Given the description of an element on the screen output the (x, y) to click on. 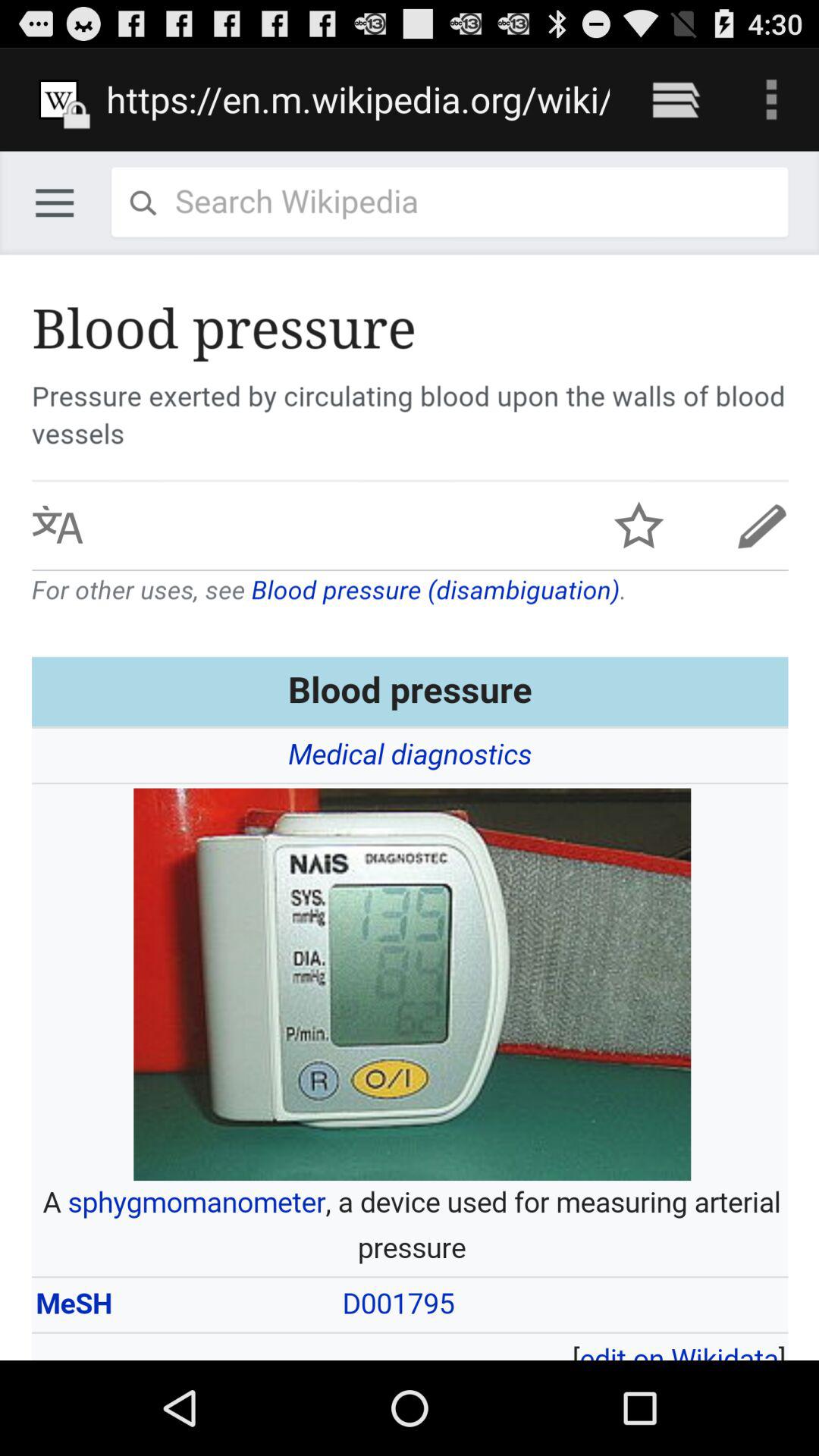
select icon at the top (357, 99)
